Given the description of an element on the screen output the (x, y) to click on. 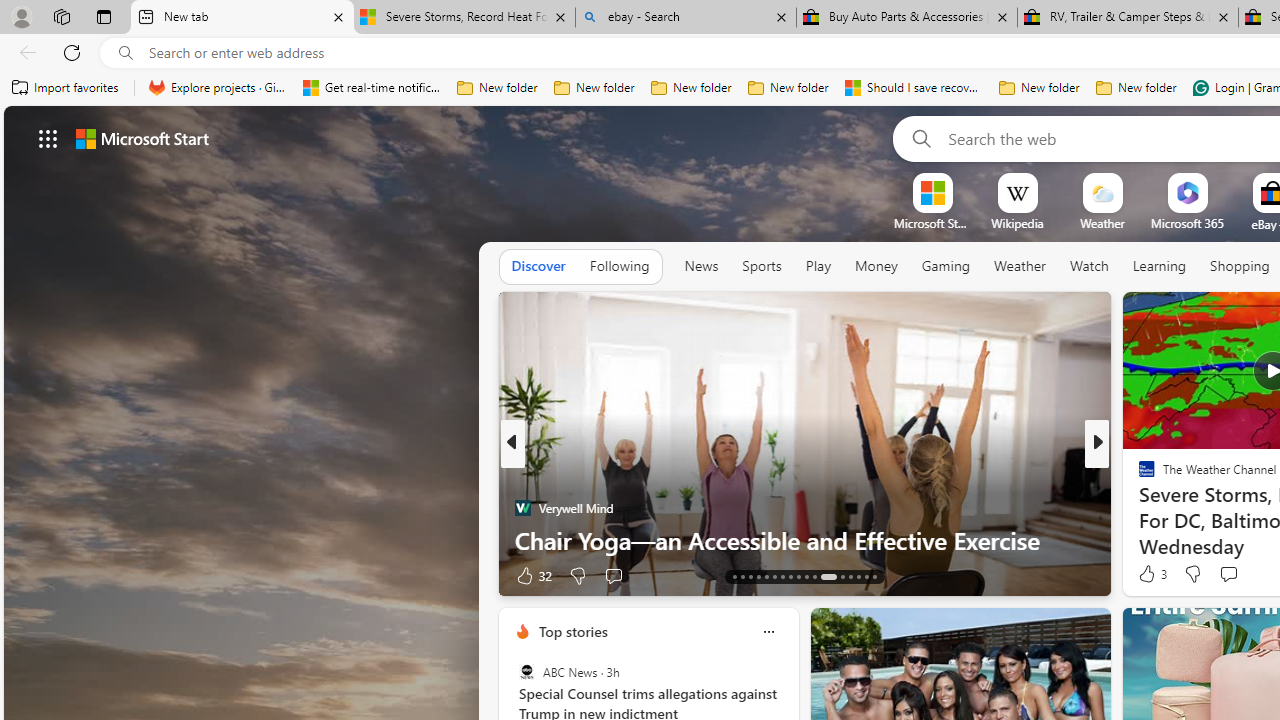
Search icon (125, 53)
View comments 167 Comment (1234, 575)
Verywell Mind (522, 507)
AutomationID: tab-27 (857, 576)
99 Like (1149, 574)
View comments 8 Comment (1234, 574)
